Given the description of an element on the screen output the (x, y) to click on. 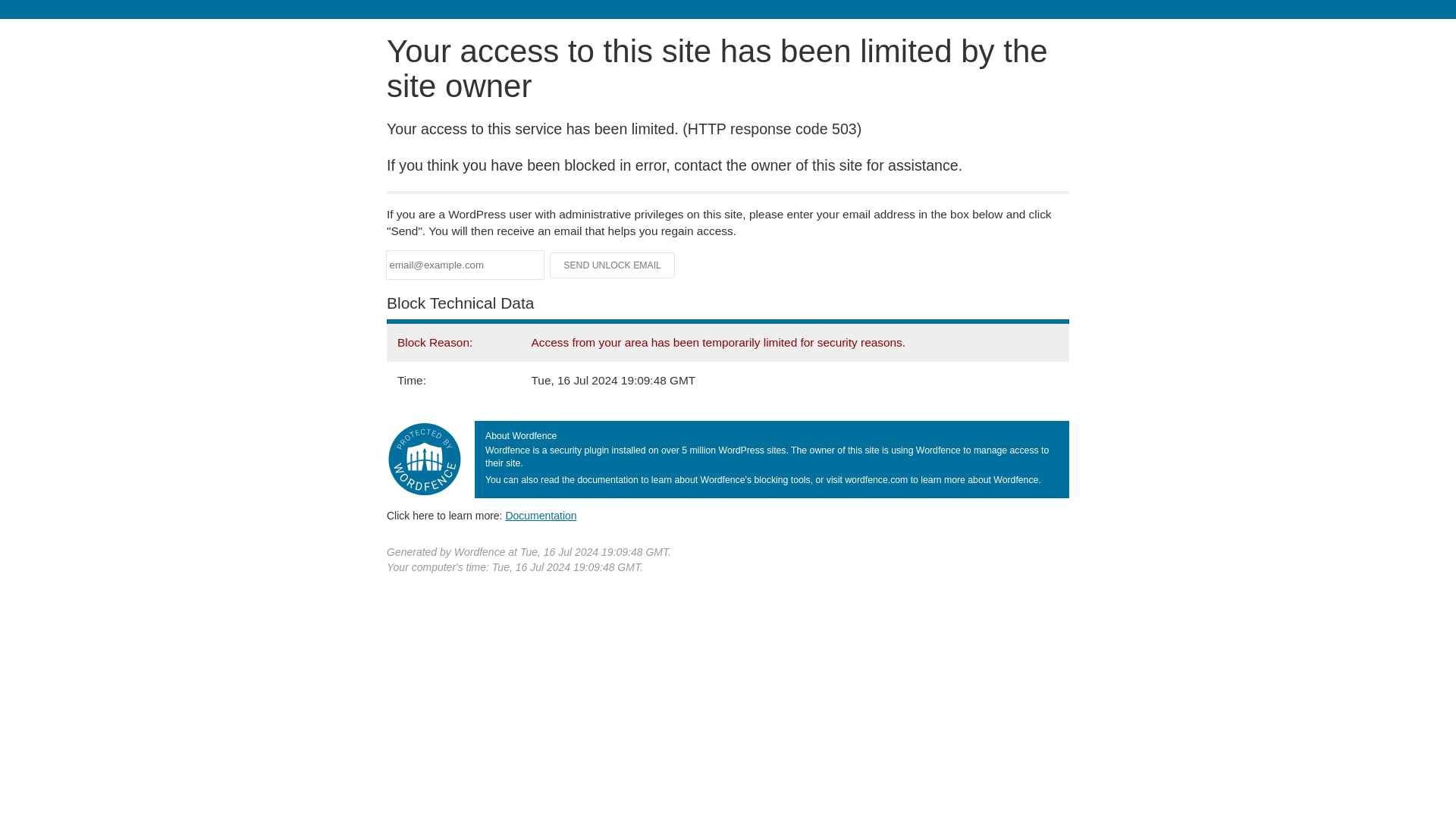
Send Unlock Email (612, 265)
Documentation (540, 515)
Send Unlock Email (612, 265)
